Given the description of an element on the screen output the (x, y) to click on. 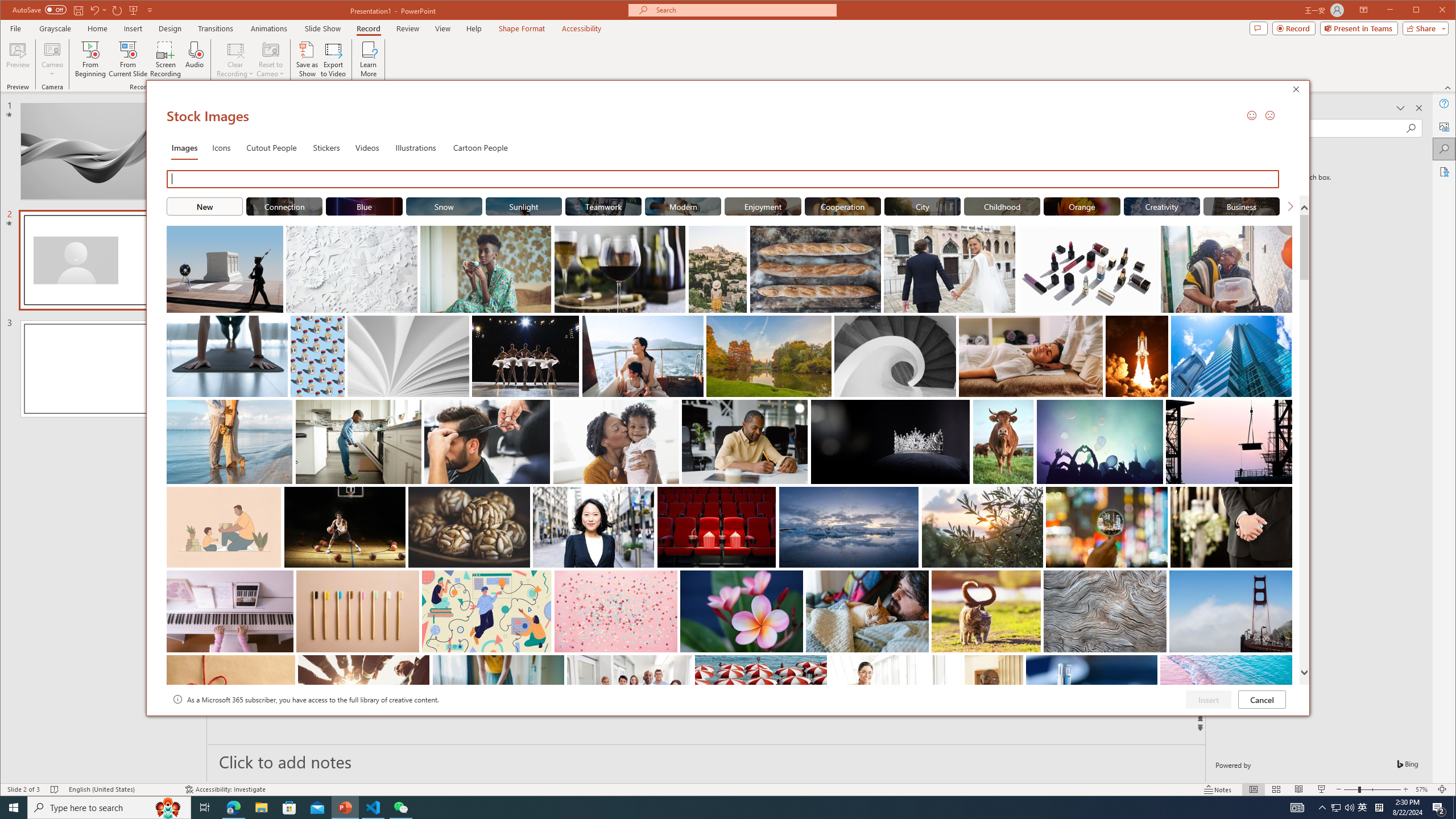
"Blue" Stock Images. (364, 206)
Send a Frown (1269, 115)
"Snow" Stock Images. (443, 206)
Cutout People (271, 147)
"Orange" Stock Images. (1082, 206)
Action Center, 2 new notifications (1439, 807)
